Given the description of an element on the screen output the (x, y) to click on. 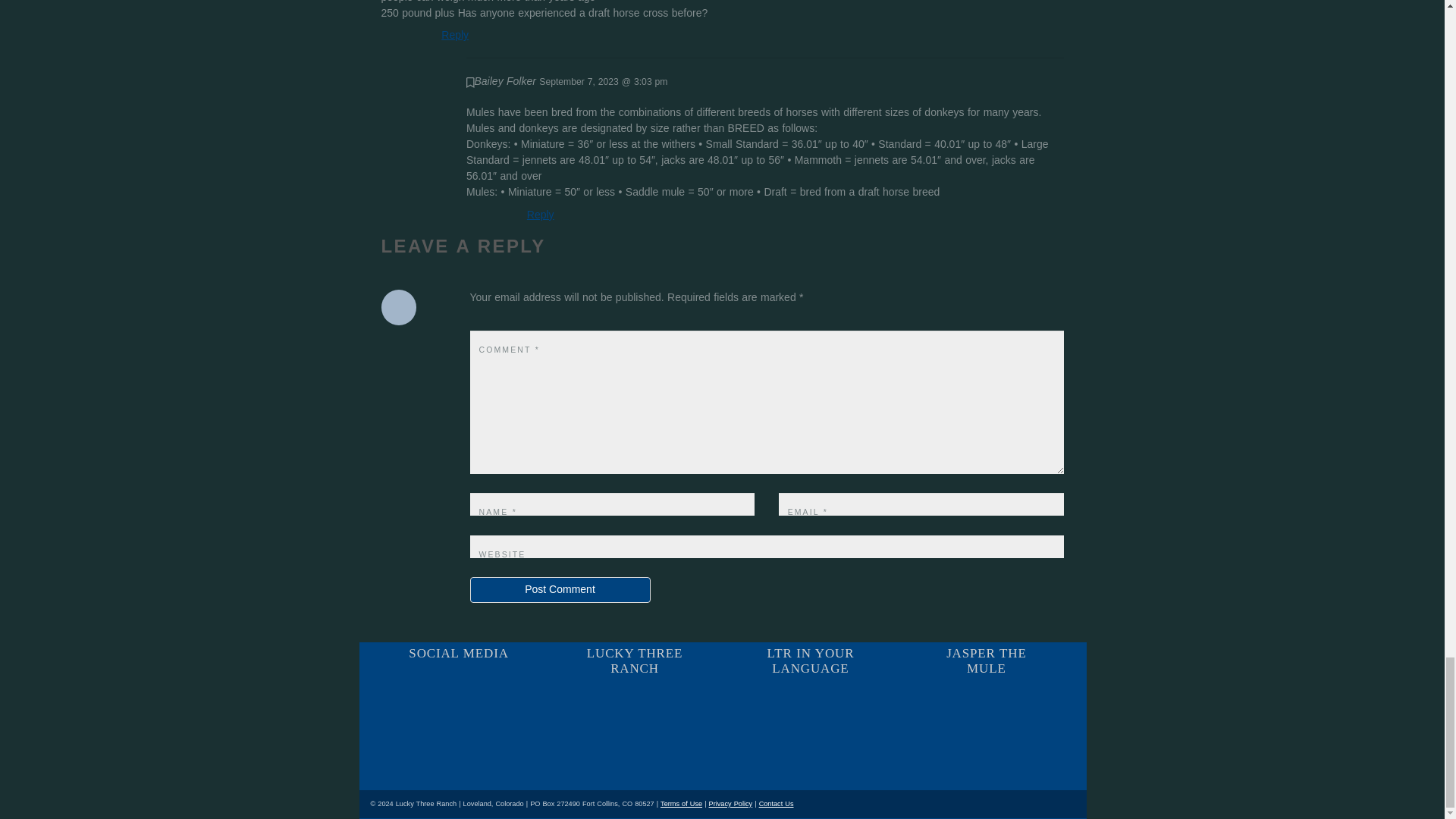
English (741, 683)
Post Comment (560, 589)
French (741, 721)
Italian (741, 759)
Spanish (741, 702)
German (741, 740)
